Given the description of an element on the screen output the (x, y) to click on. 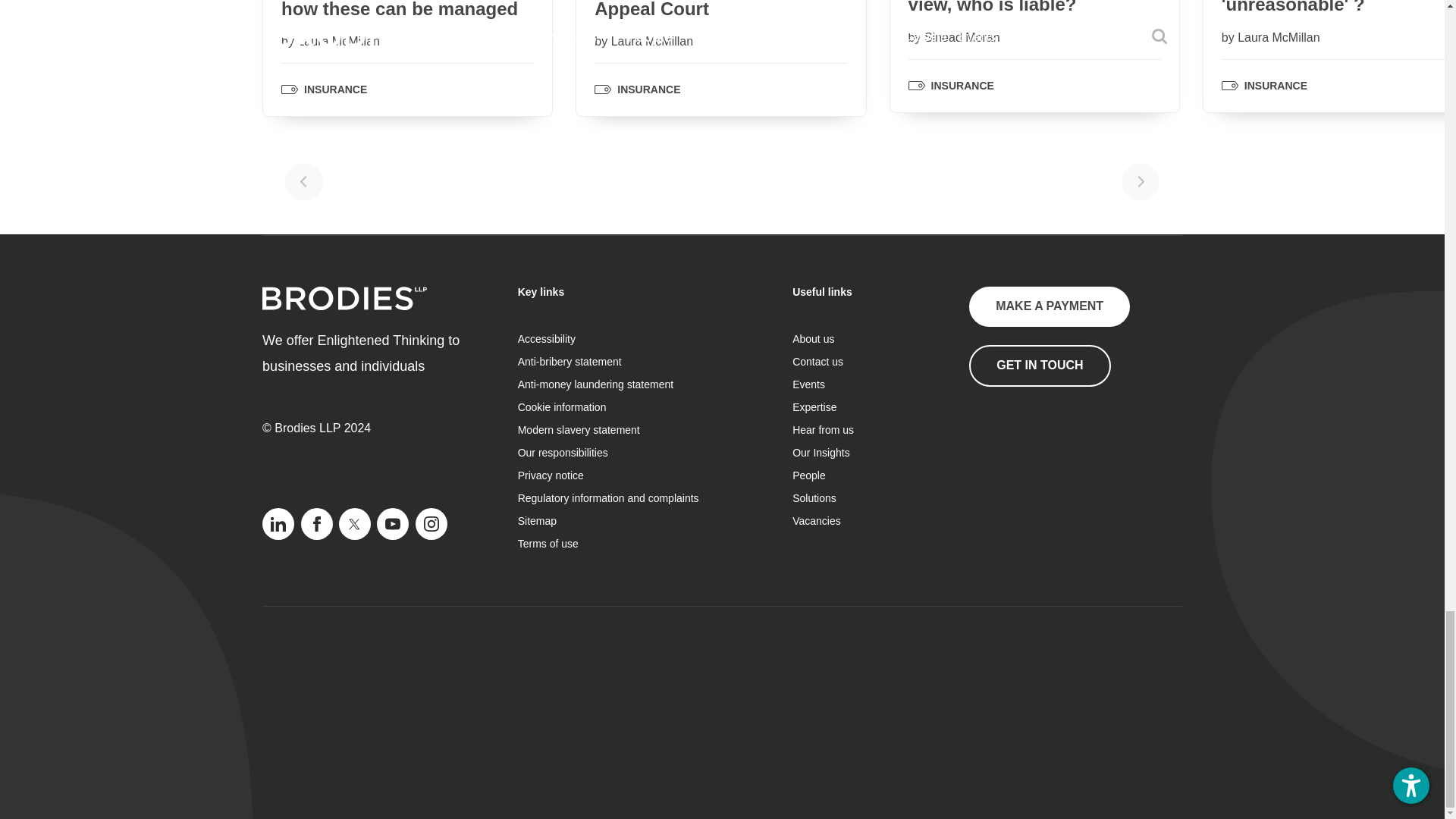
Brodies (344, 298)
Click to return to the homepage (344, 305)
Solicitors Regulation Authority link (1045, 461)
